Given the description of an element on the screen output the (x, y) to click on. 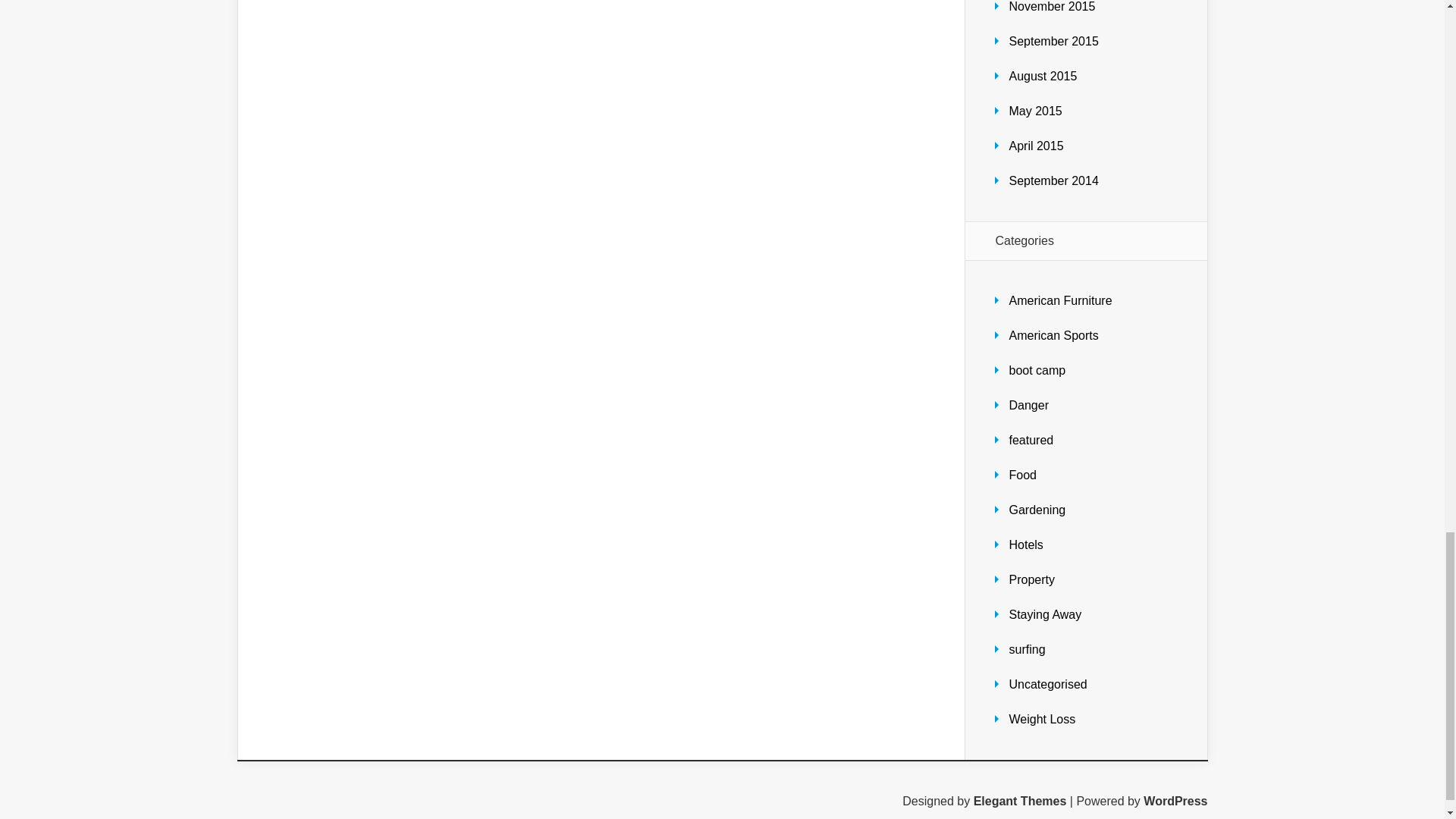
Premium WordPress Themes (1020, 800)
